Given the description of an element on the screen output the (x, y) to click on. 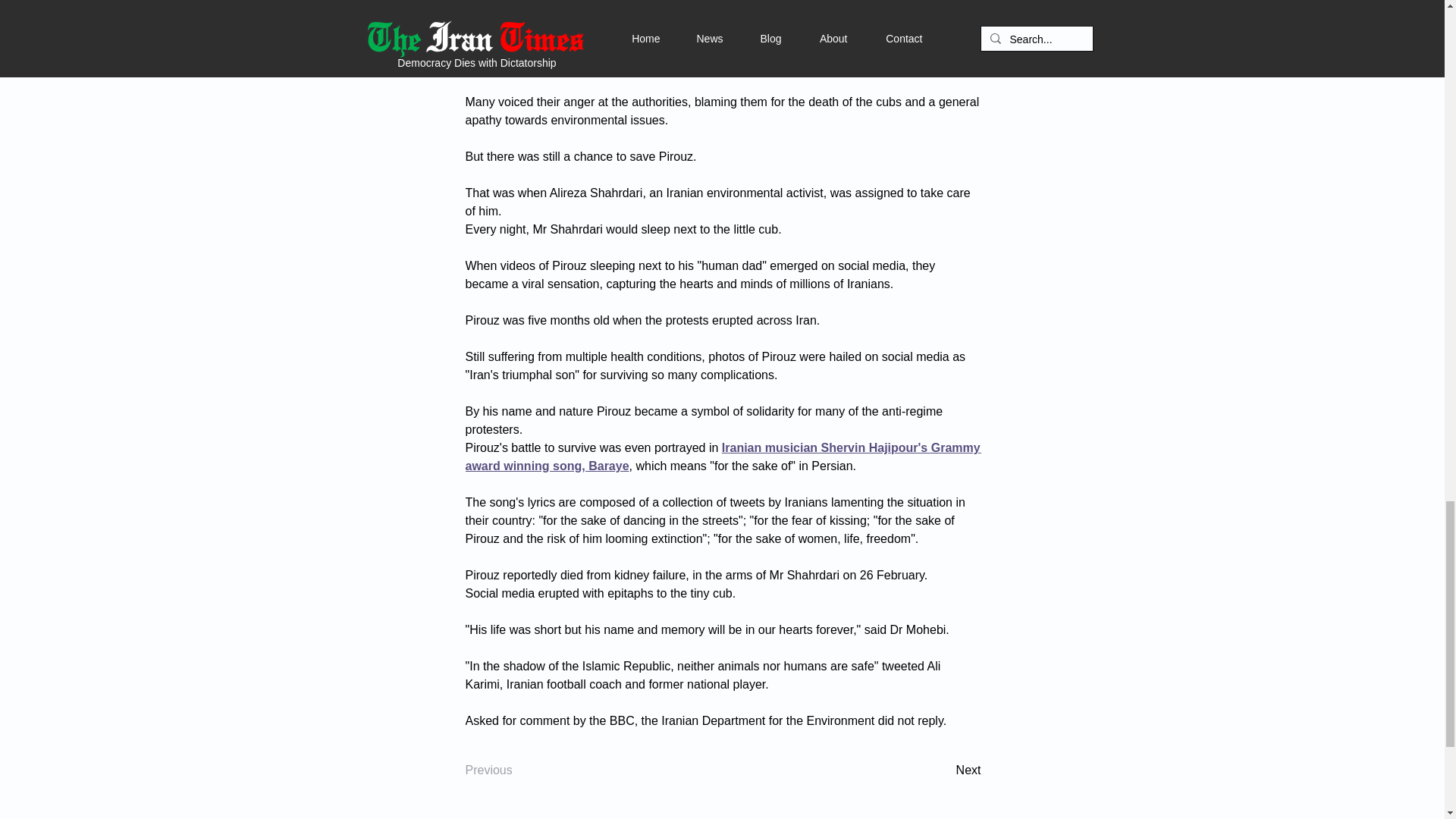
Next (943, 770)
Previous (515, 770)
